Given the description of an element on the screen output the (x, y) to click on. 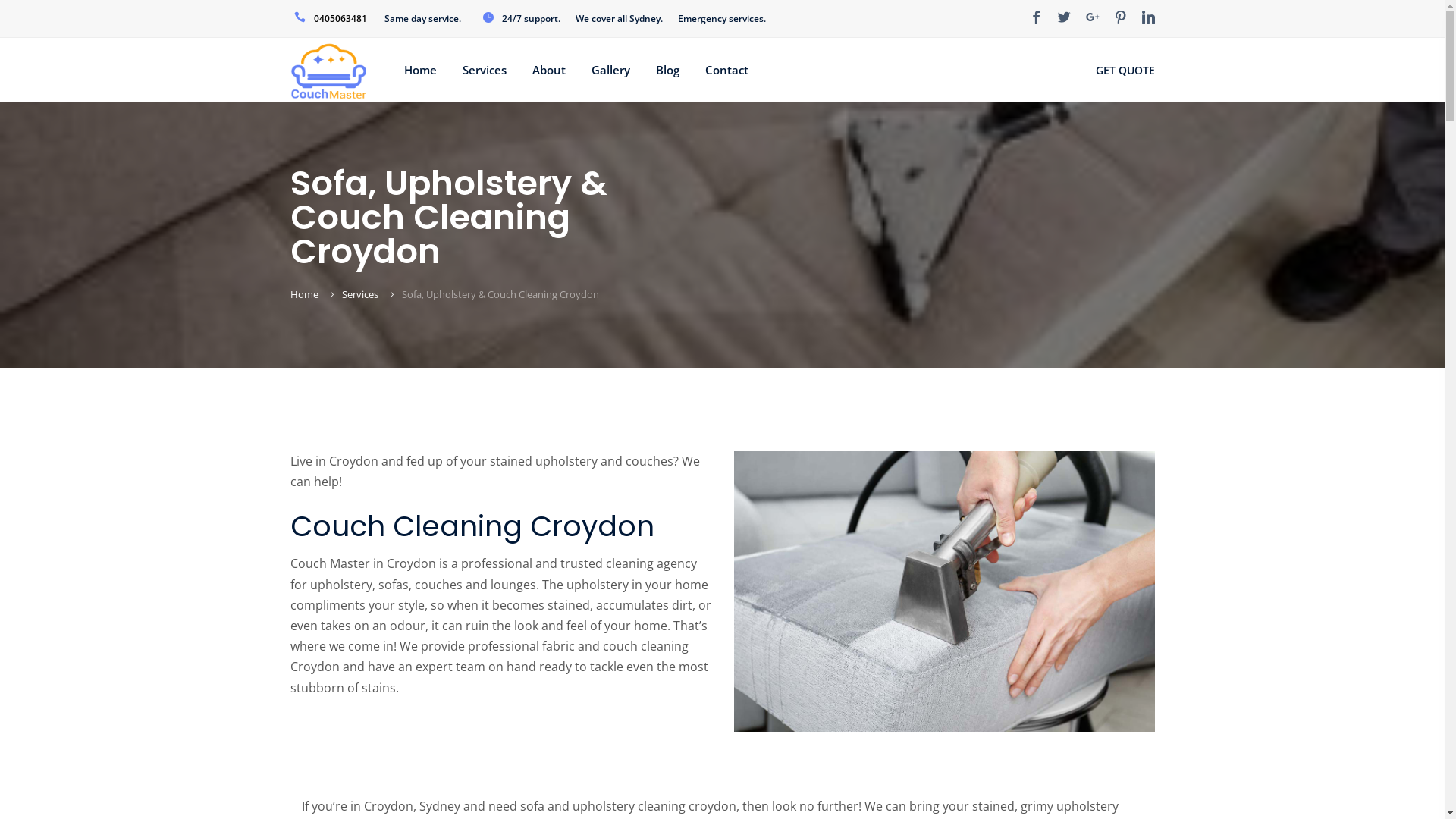
0405063481 Element type: text (340, 18)
GET QUOTE Element type: text (1124, 69)
Home Element type: text (303, 294)
Home Element type: text (419, 69)
Services Element type: text (359, 294)
Services Element type: text (484, 69)
Sofa, Upholstery & Couch Cleaning Croydon Element type: text (500, 294)
Contact Element type: text (726, 69)
Blog Element type: text (666, 69)
Gallery Element type: text (610, 69)
About Element type: text (548, 69)
